Given the description of an element on the screen output the (x, y) to click on. 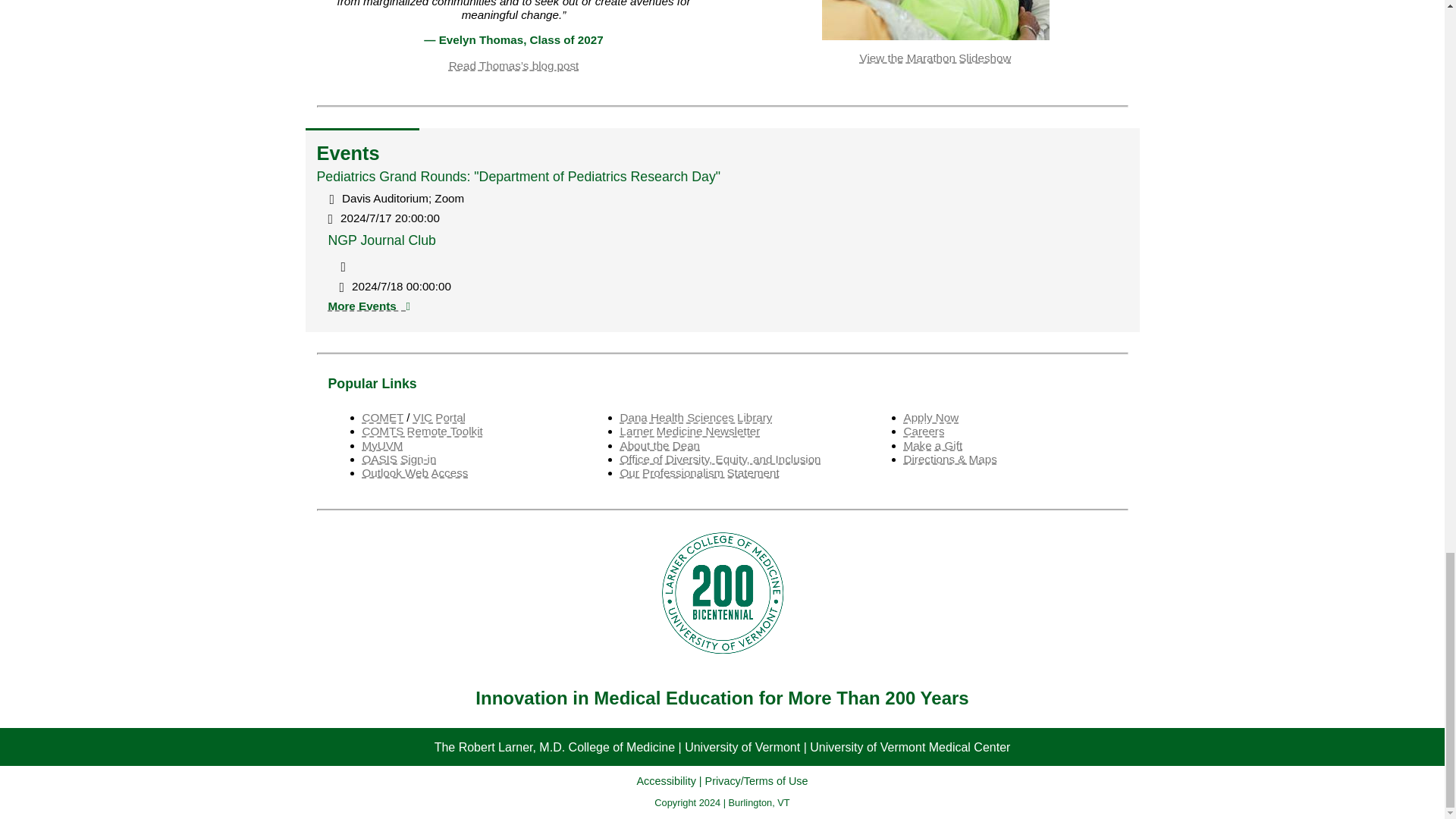
Larner Marathon Volunteers (935, 20)
LCOM Bicentennial (722, 592)
